Given the description of an element on the screen output the (x, y) to click on. 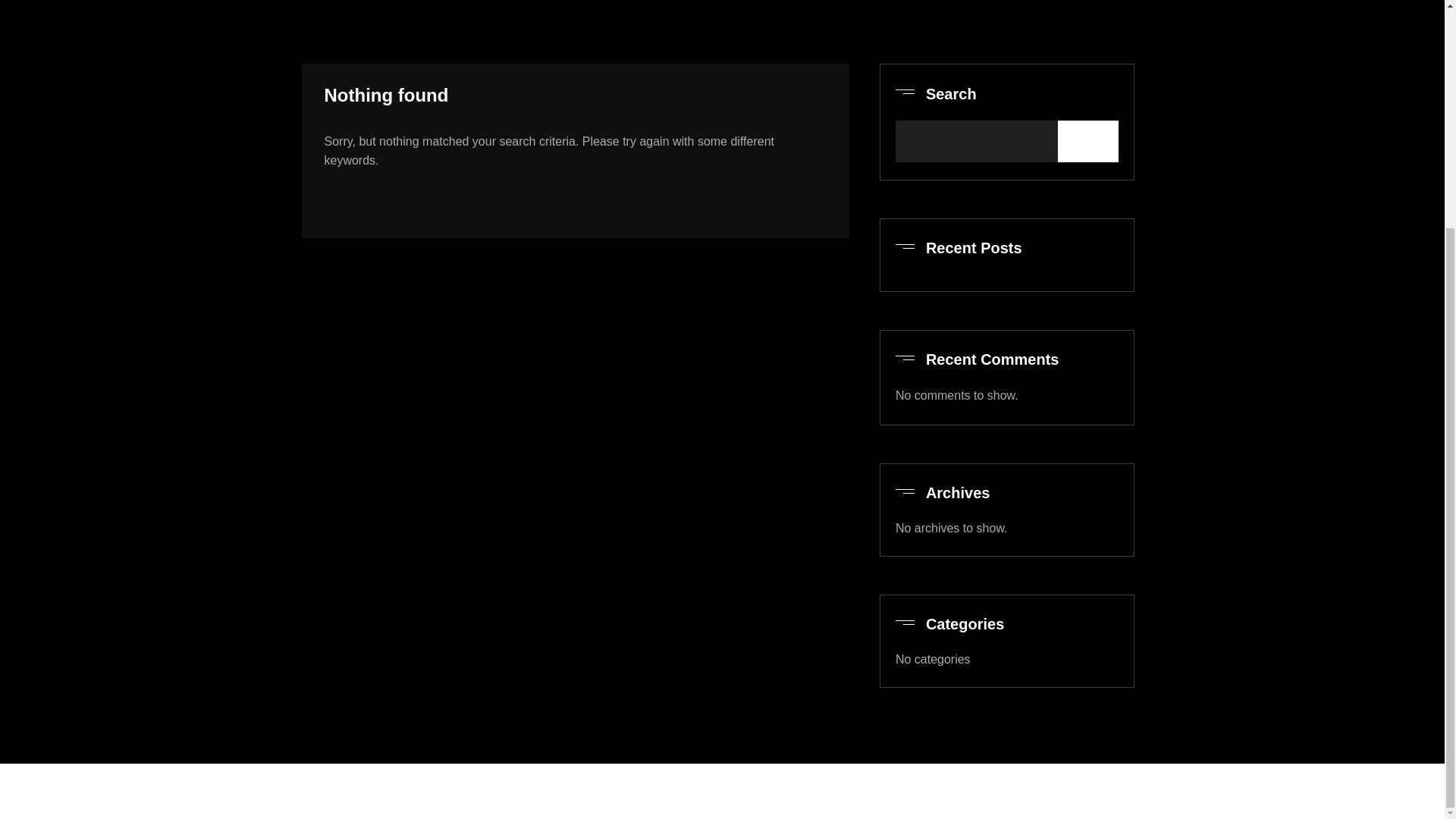
WPKites (791, 790)
Spicethemes (867, 790)
Search (1088, 141)
WordPress (681, 790)
